Given the description of an element on the screen output the (x, y) to click on. 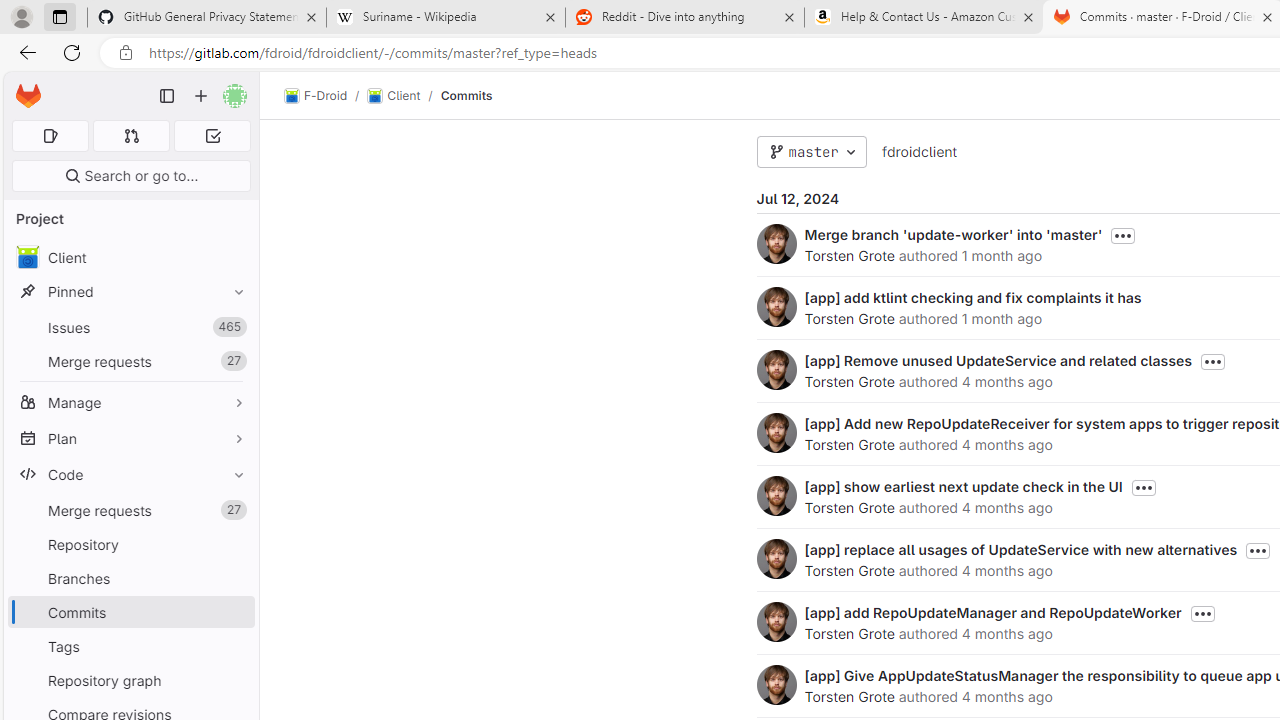
Pin Tags (234, 646)
Class: s16 gl-icon gl-button-icon  (1202, 614)
[app] add RepoUpdateManager and RepoUpdateWorker (992, 612)
Merge requests27 (130, 510)
master (811, 151)
Toggle commit description (1202, 614)
Tags (130, 646)
F-Droid (316, 96)
Pin Repository (234, 544)
fdroidclient (918, 151)
Manage (130, 402)
Primary navigation sidebar (167, 96)
Repository graph (130, 679)
